Given the description of an element on the screen output the (x, y) to click on. 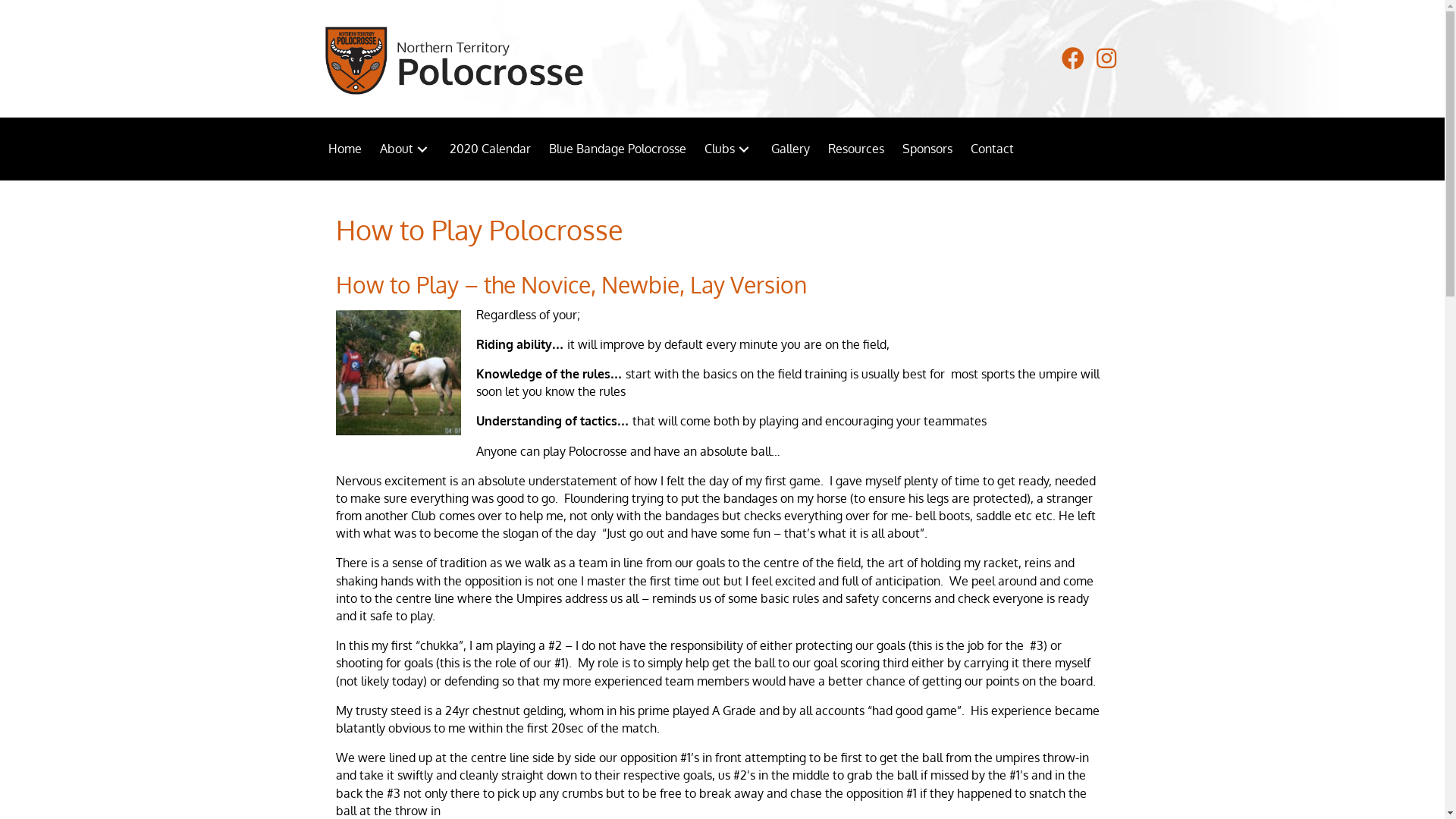
Gallery Element type: text (789, 148)
logo Element type: hover (453, 60)
About Element type: text (404, 148)
Facebook Element type: hover (1073, 57)
Home Element type: text (344, 148)
Contact Element type: text (992, 148)
2020 Calendar Element type: text (489, 148)
Resources Element type: text (855, 148)
Blue Bandage Polocrosse Element type: text (617, 148)
Instagram Element type: hover (1106, 57)
Clubs Element type: text (727, 148)
Sponsors Element type: text (927, 148)
